Given the description of an element on the screen output the (x, y) to click on. 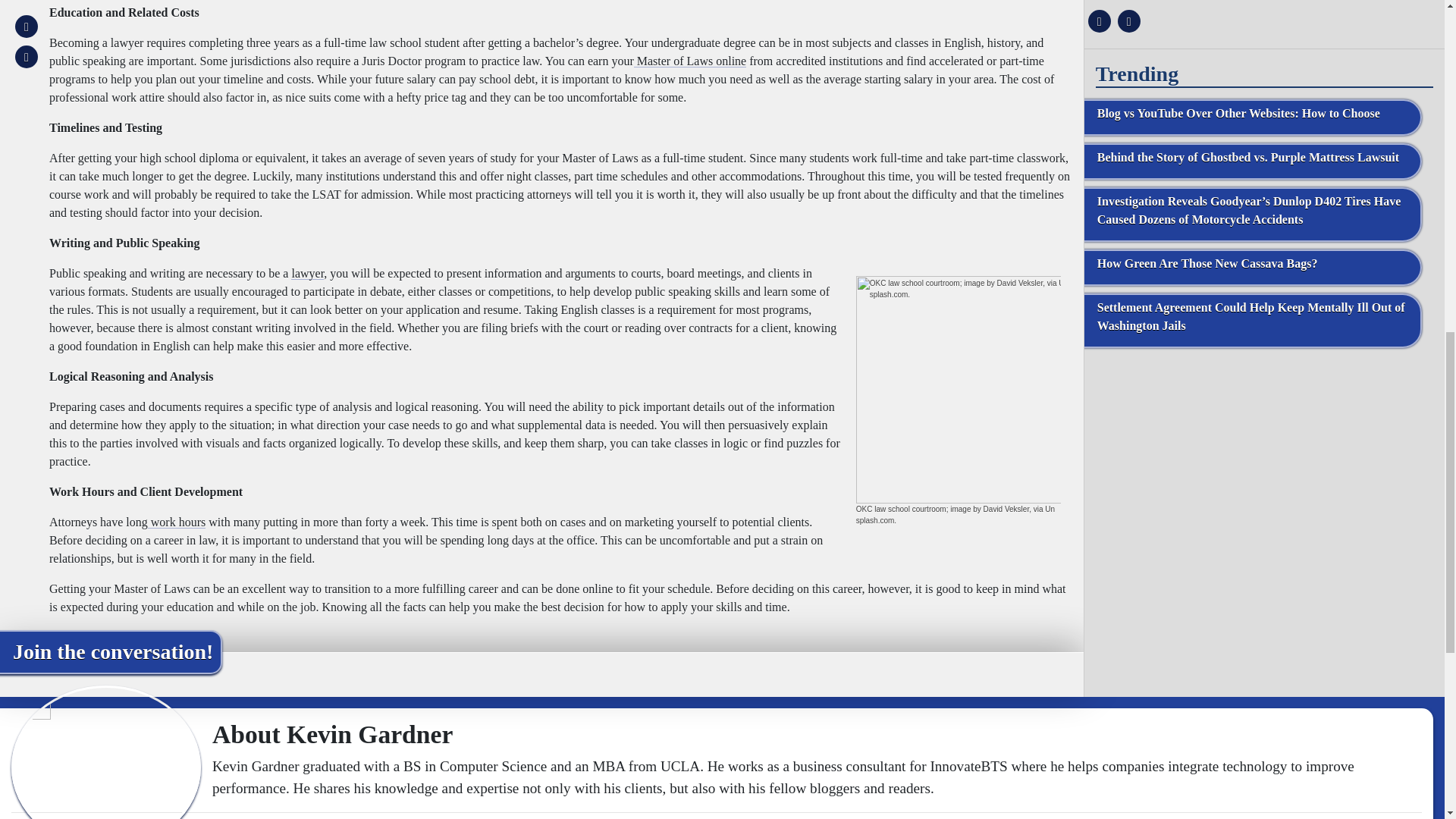
Master of Laws online (689, 60)
work hours (176, 521)
lawyer (307, 273)
